Given the description of an element on the screen output the (x, y) to click on. 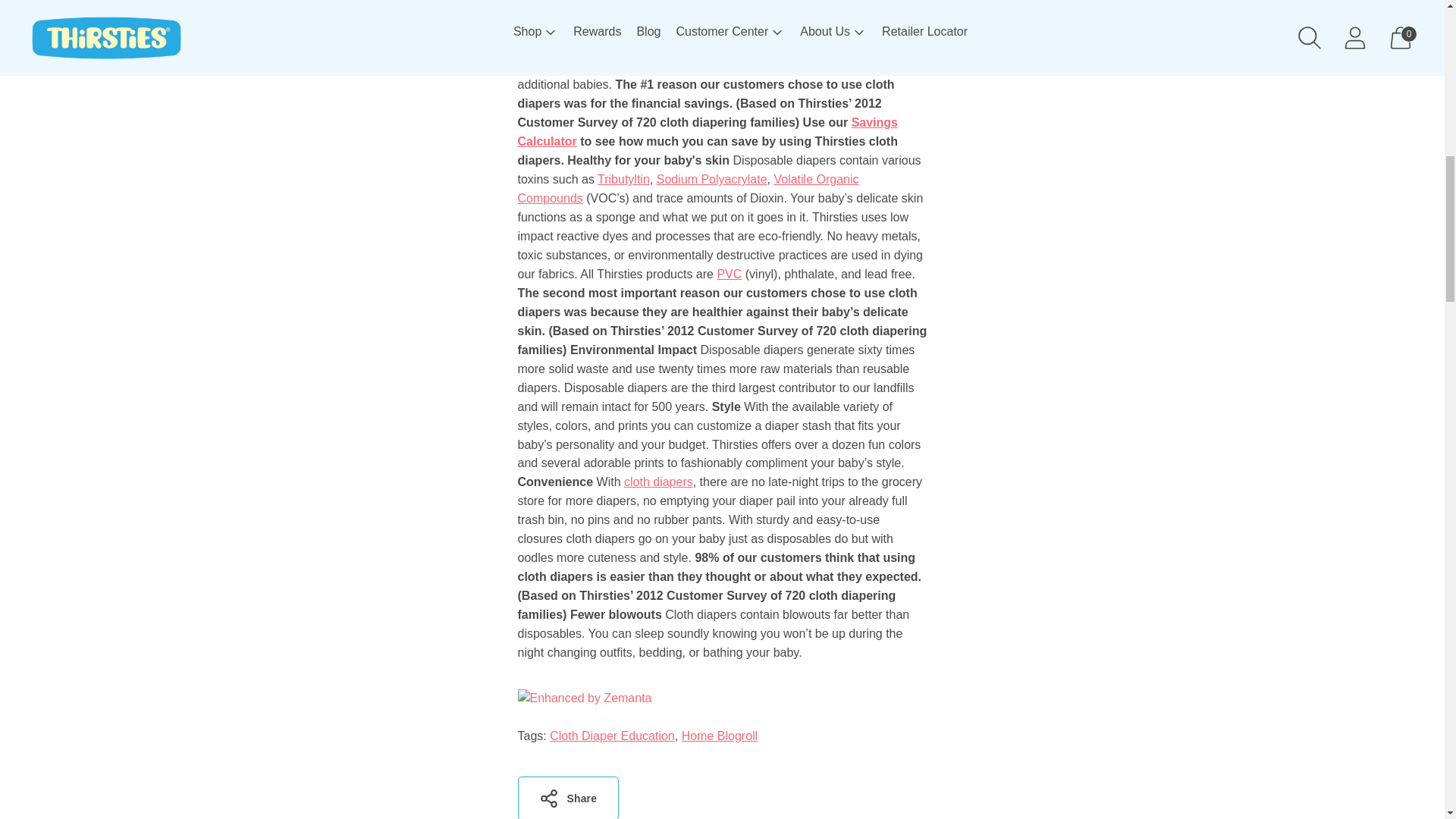
Sodium polyacrylate (711, 178)
Show articles tagged Home Blogroll (719, 735)
Tributyltin (622, 178)
Polyvinyl chloride (728, 273)
Volatile organic compound (687, 188)
Show articles tagged Cloth Diaper Education (612, 735)
